Given the description of an element on the screen output the (x, y) to click on. 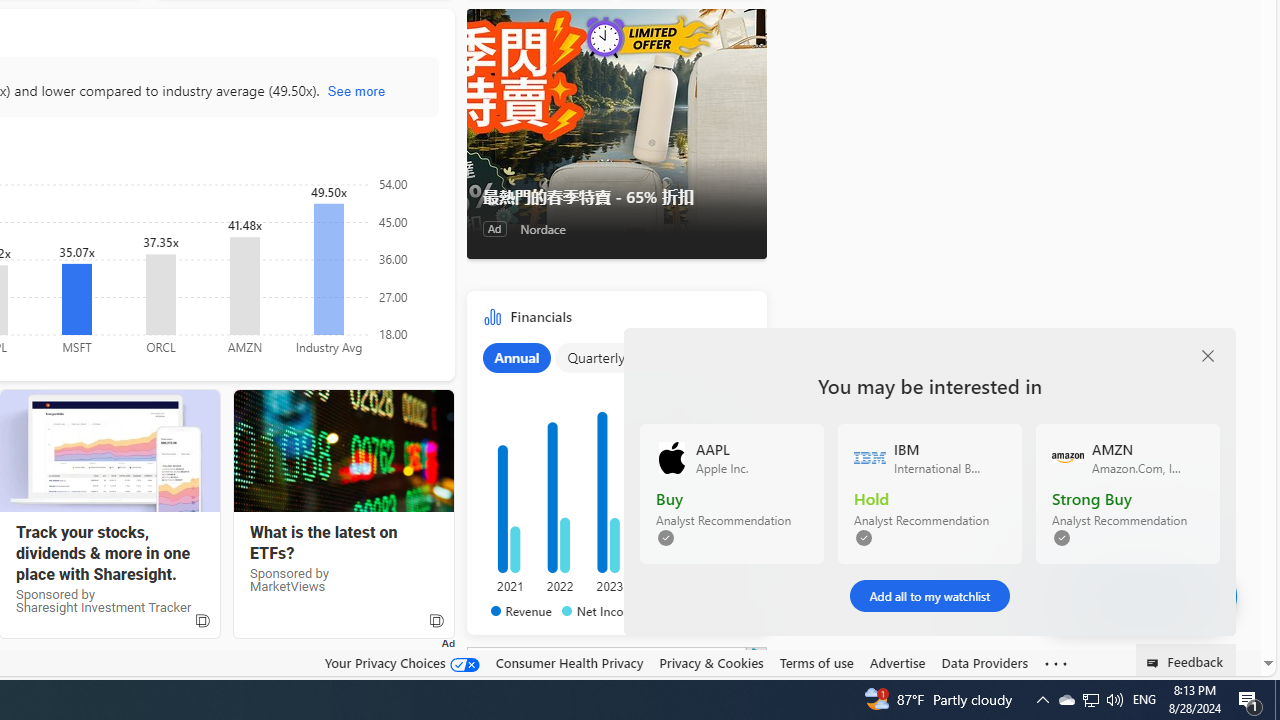
Your Privacy Choices (401, 663)
Annual (516, 357)
Consumer Health Privacy (569, 662)
See more (1055, 664)
Your Privacy Choices (401, 662)
Class: chartSvg (612, 477)
Quarterly (596, 357)
Class: chartOuter-DS-EntryPoint1-1 (612, 479)
Class: oneFooter_seeMore-DS-EntryPoint1-1 (1055, 663)
See comments 317 (1133, 596)
Class: feedback_link_icon-DS-EntryPoint1-1 (1156, 663)
